Given the description of an element on the screen output the (x, y) to click on. 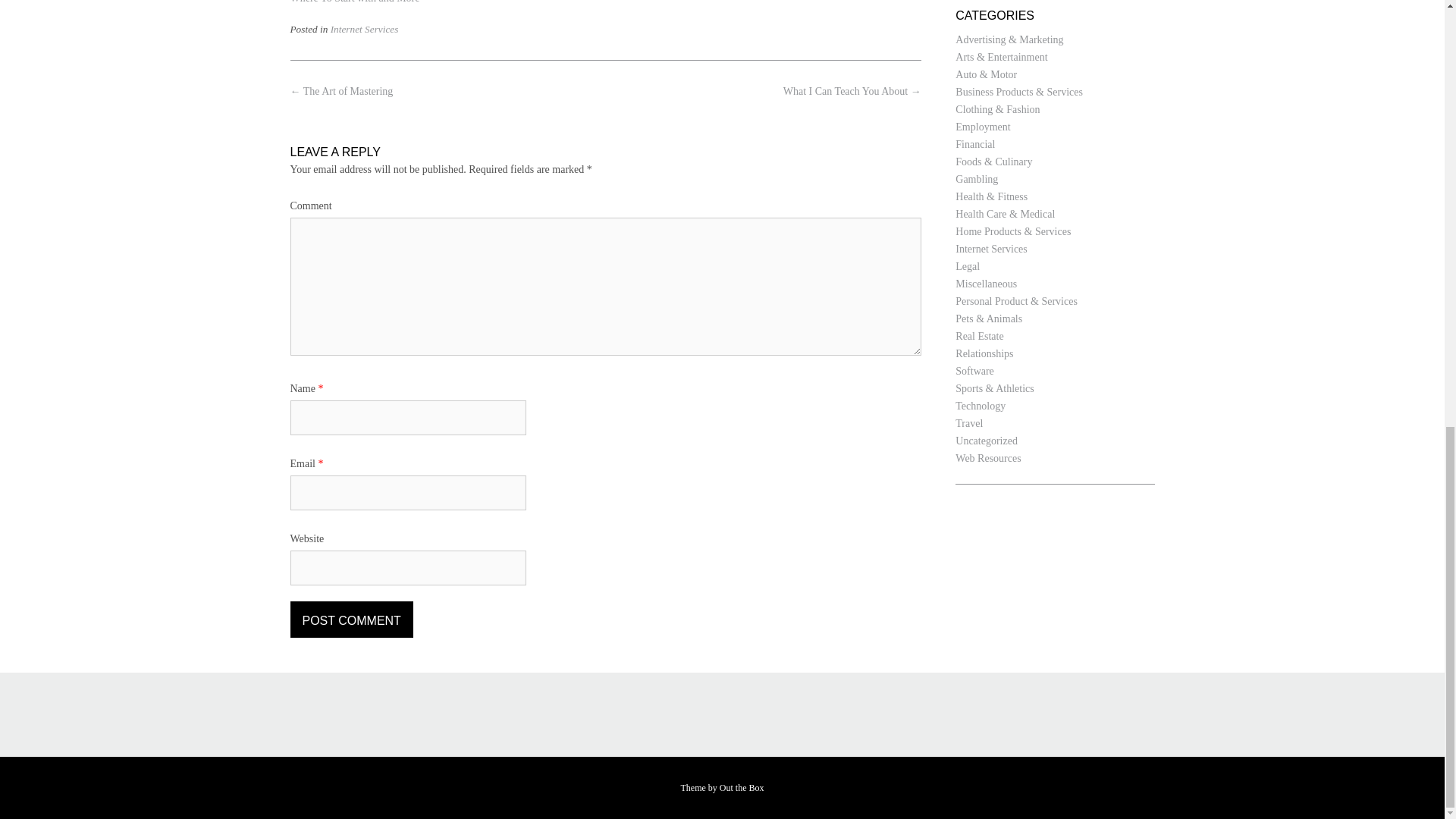
Post Comment (350, 619)
Post Comment (350, 619)
Internet Services (364, 29)
Where To Start with and More (354, 2)
